Given the description of an element on the screen output the (x, y) to click on. 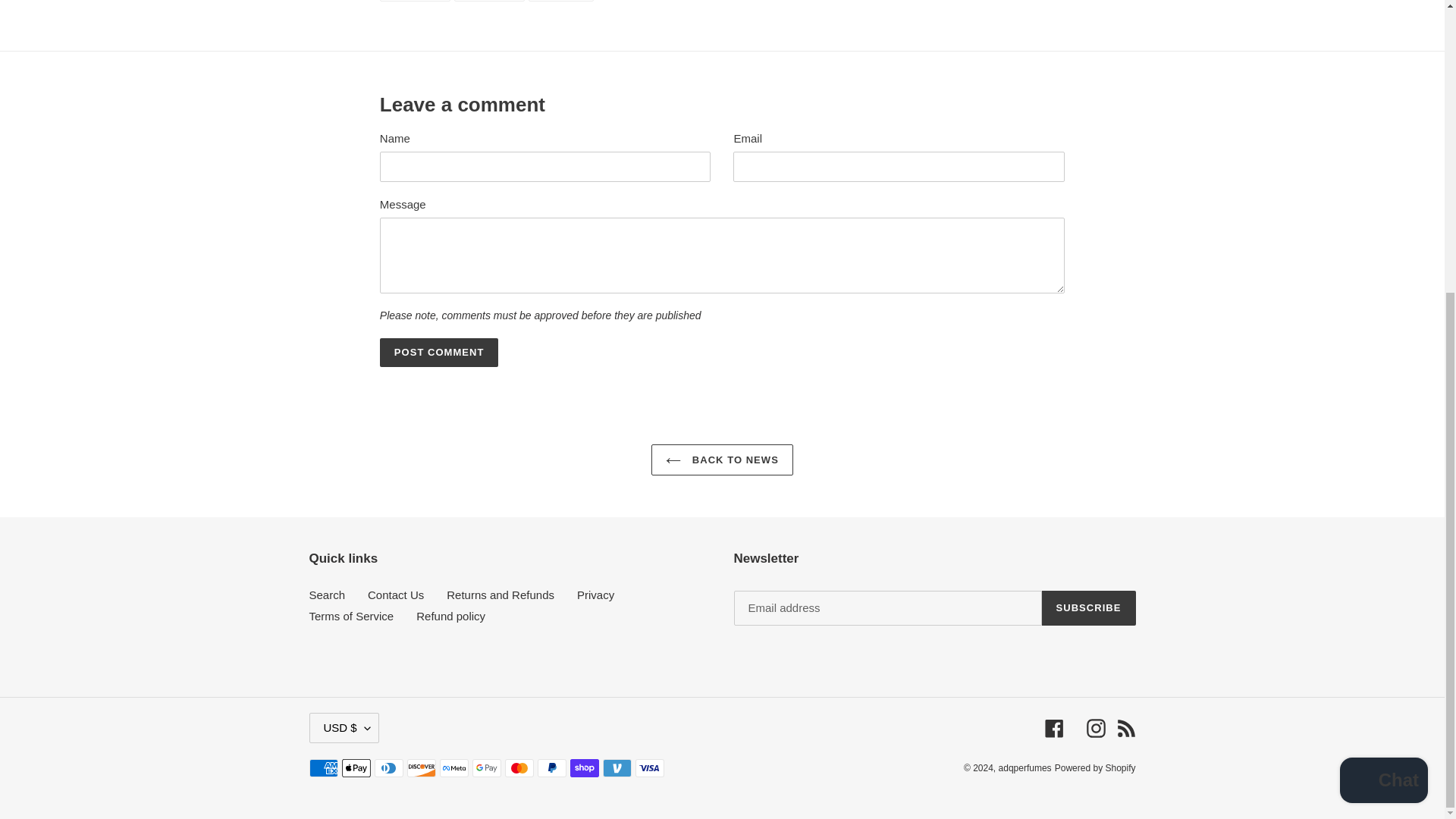
Instagram (561, 0)
Powered by Shopify (1095, 727)
BACK TO NEWS (1094, 767)
adqperfumes (721, 459)
Search (1024, 767)
SUBSCRIBE (327, 594)
Privacy (1088, 607)
Facebook (595, 594)
